Given the description of an element on the screen output the (x, y) to click on. 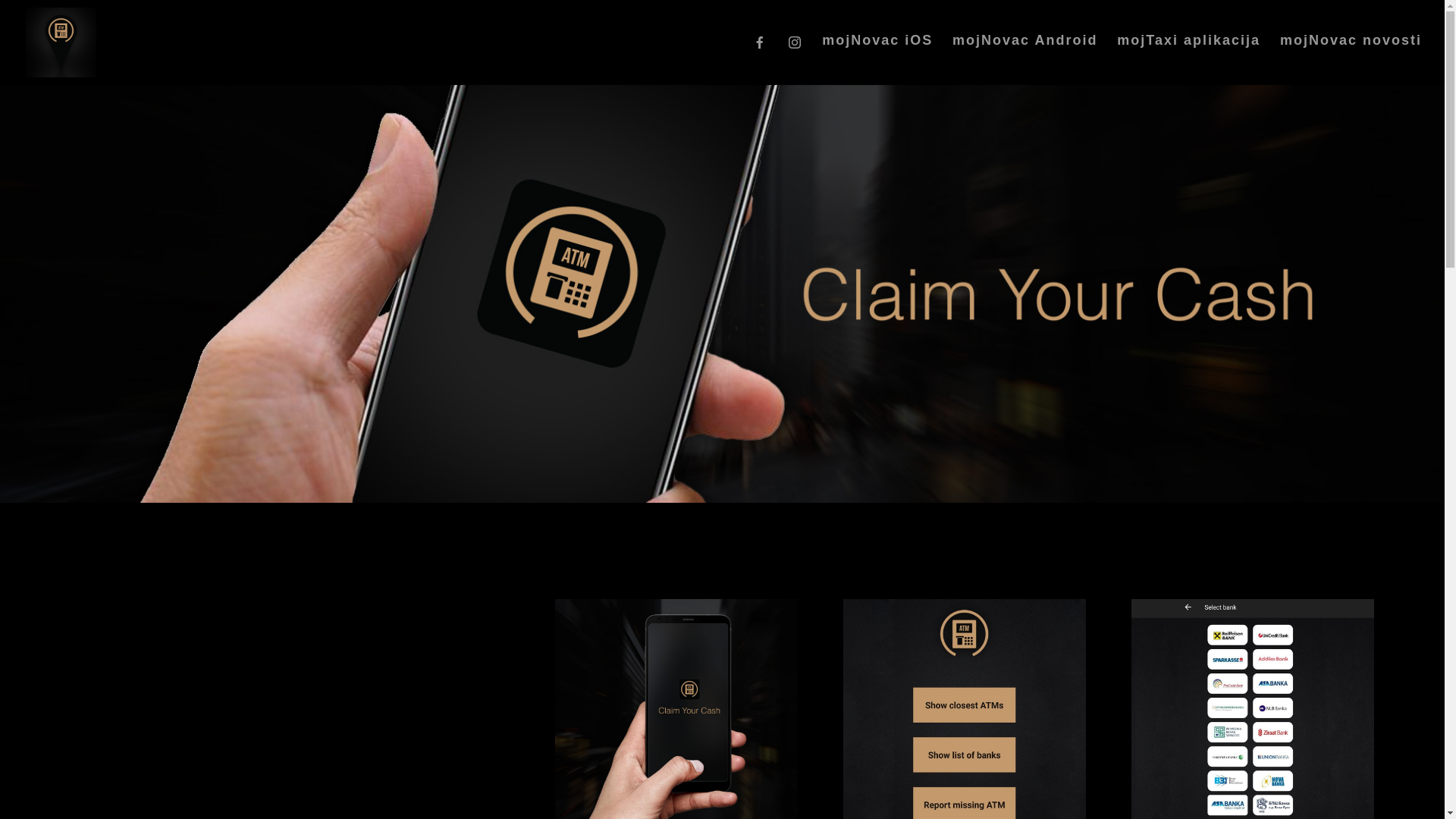
mojTaxi aplikacija Element type: text (1188, 57)
mojNovac Android Element type: text (1024, 57)
mojNovac iOS Element type: text (877, 57)
mojNovac novosti Element type: text (1350, 57)
